Given the description of an element on the screen output the (x, y) to click on. 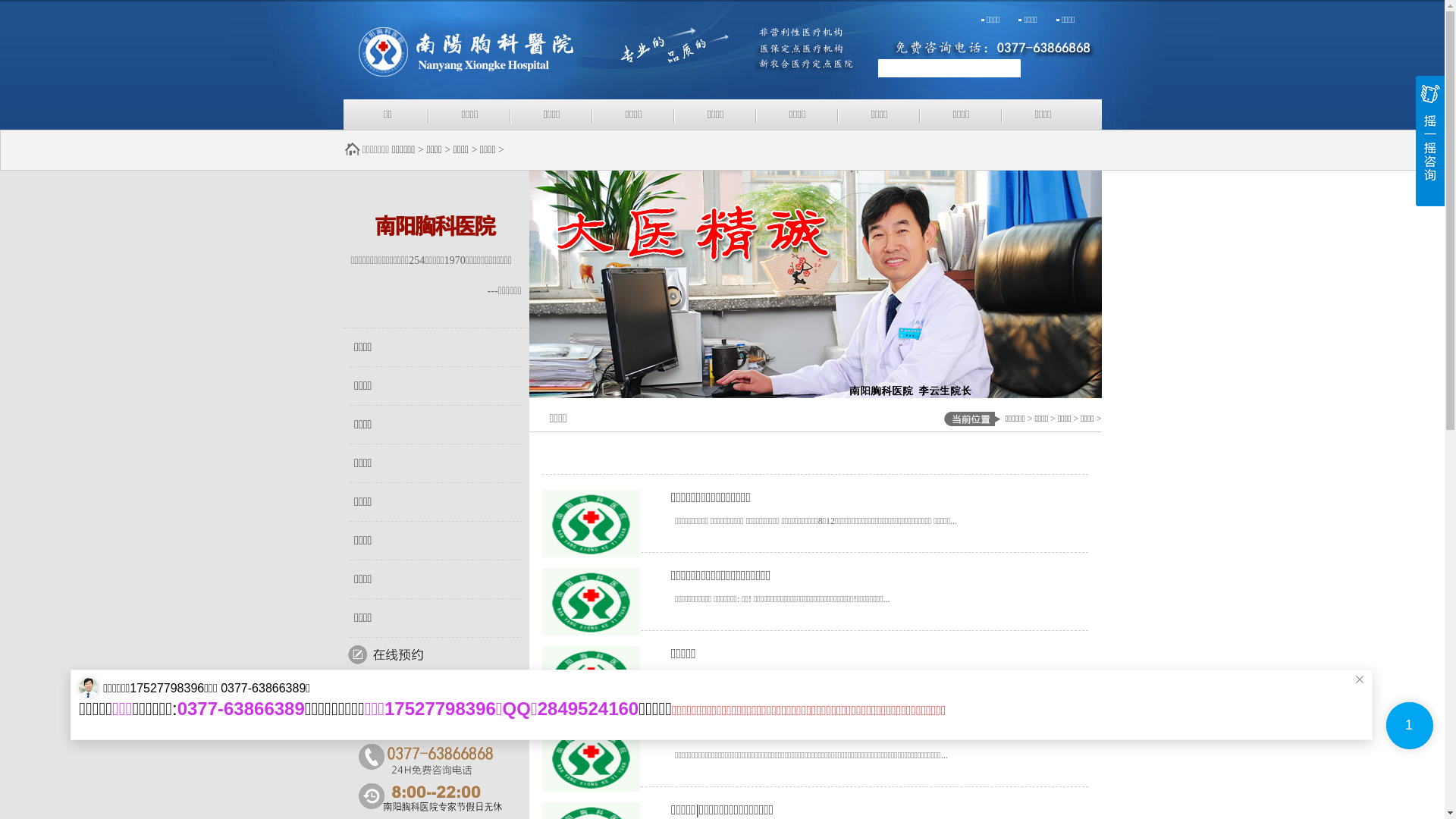
  Element type: text (1046, 68)
